Given the description of an element on the screen output the (x, y) to click on. 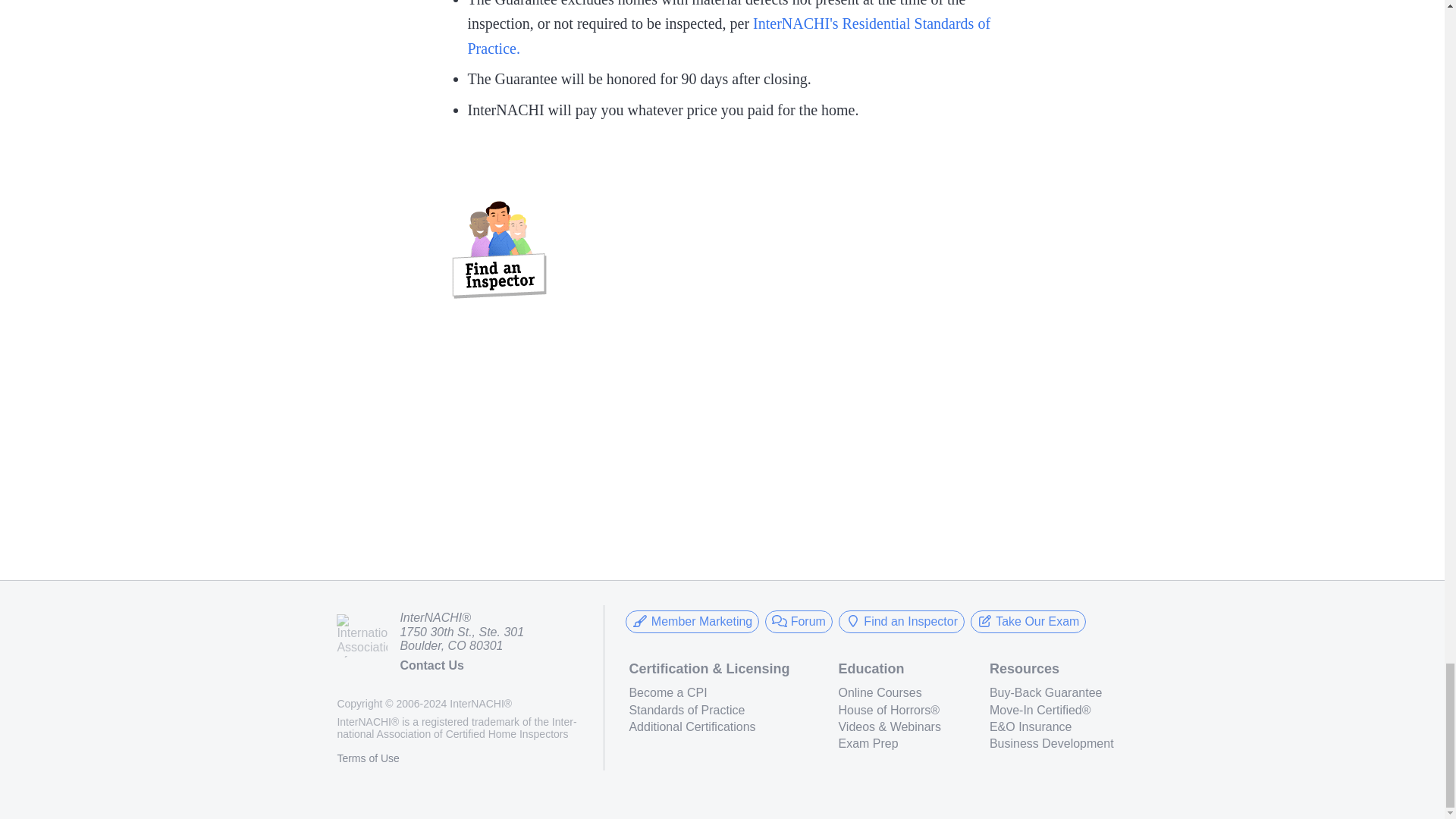
Business Development (1051, 744)
Find an Inspector (900, 621)
Become a CPI (708, 693)
Standards of Practice (708, 710)
Forum (798, 621)
Contact Us (430, 665)
Terms of Use (367, 758)
Exam Prep (889, 744)
Online Courses (889, 693)
Buy-Back Guarantee (1051, 693)
Additional Certifications (708, 726)
Member Marketing (692, 621)
InterNACHI's Residential Standards of Practice. (728, 35)
InspectorSeek.com (499, 252)
Take Our Exam (1028, 621)
